Given the description of an element on the screen output the (x, y) to click on. 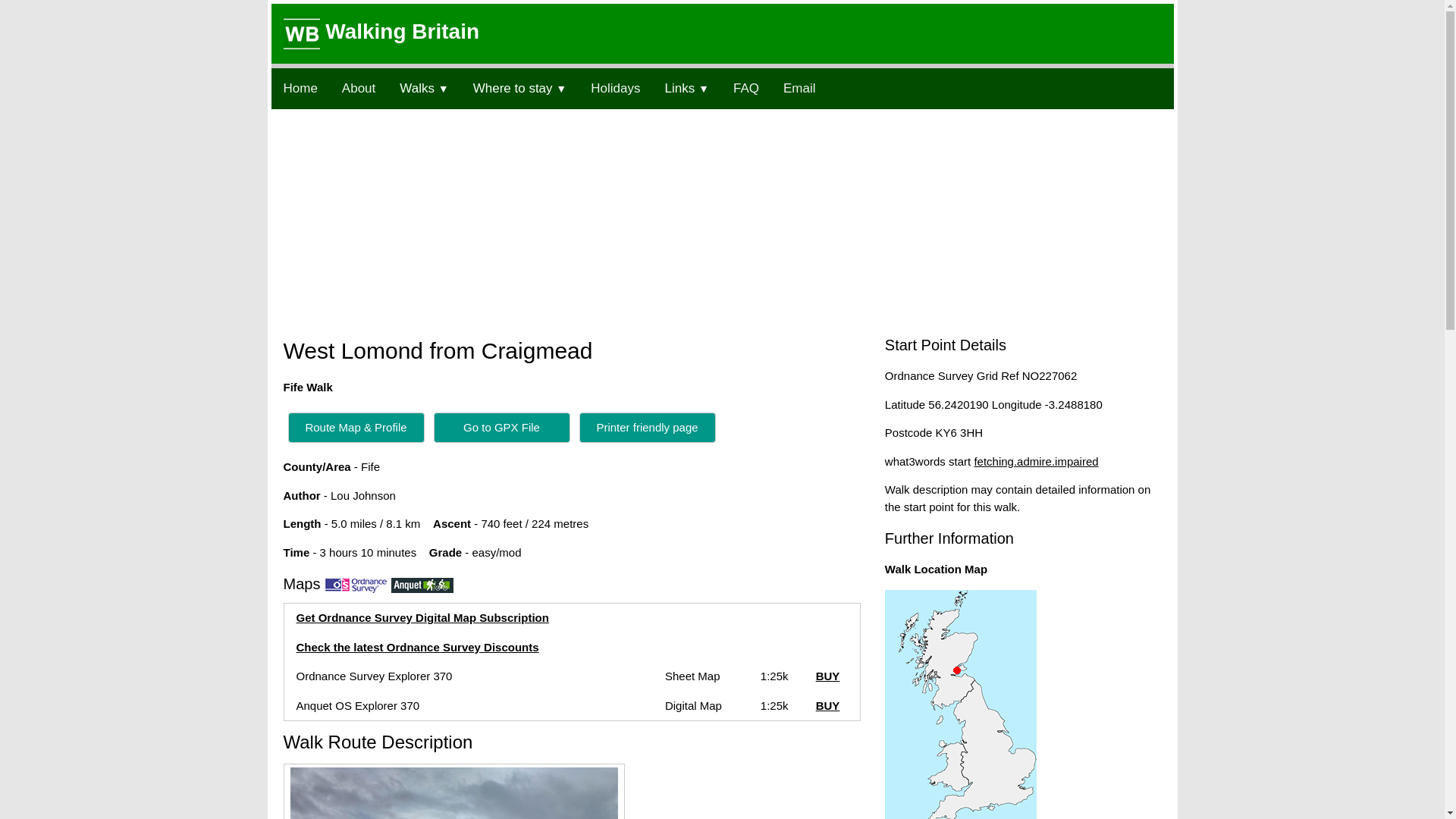
BUY (827, 705)
About (358, 87)
BUY (827, 675)
Go to GPX File (502, 426)
Email (799, 87)
Holidays (615, 87)
Home (300, 87)
Printer friendly page (647, 427)
Check the latest Ordnance Survey Discounts (416, 646)
Printer friendly page (647, 426)
Get Ordnance Survey Digital Map Subscription (421, 617)
Go to GPX File (501, 427)
FAQ (745, 87)
